Given the description of an element on the screen output the (x, y) to click on. 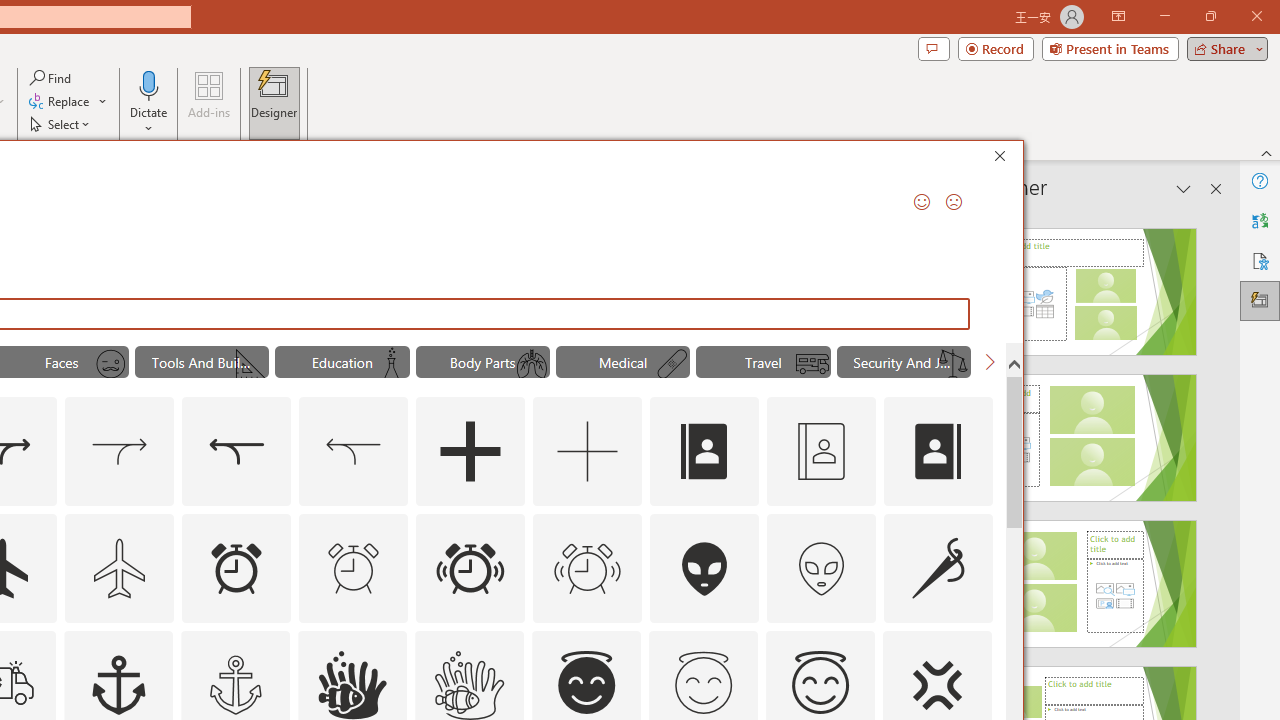
AutomationID: Icons_WeightsUneven1_M (952, 364)
AutomationID: Icons_AlarmRinging_M (587, 568)
AutomationID: Icons_AddressBook_LTR (705, 452)
AutomationID: Icons_AlterationsTailoring (938, 568)
"Tools And Building" Icons. (201, 362)
"Body Parts" Icons. (483, 362)
AutomationID: Icons_Lungs_M (532, 364)
